Given the description of an element on the screen output the (x, y) to click on. 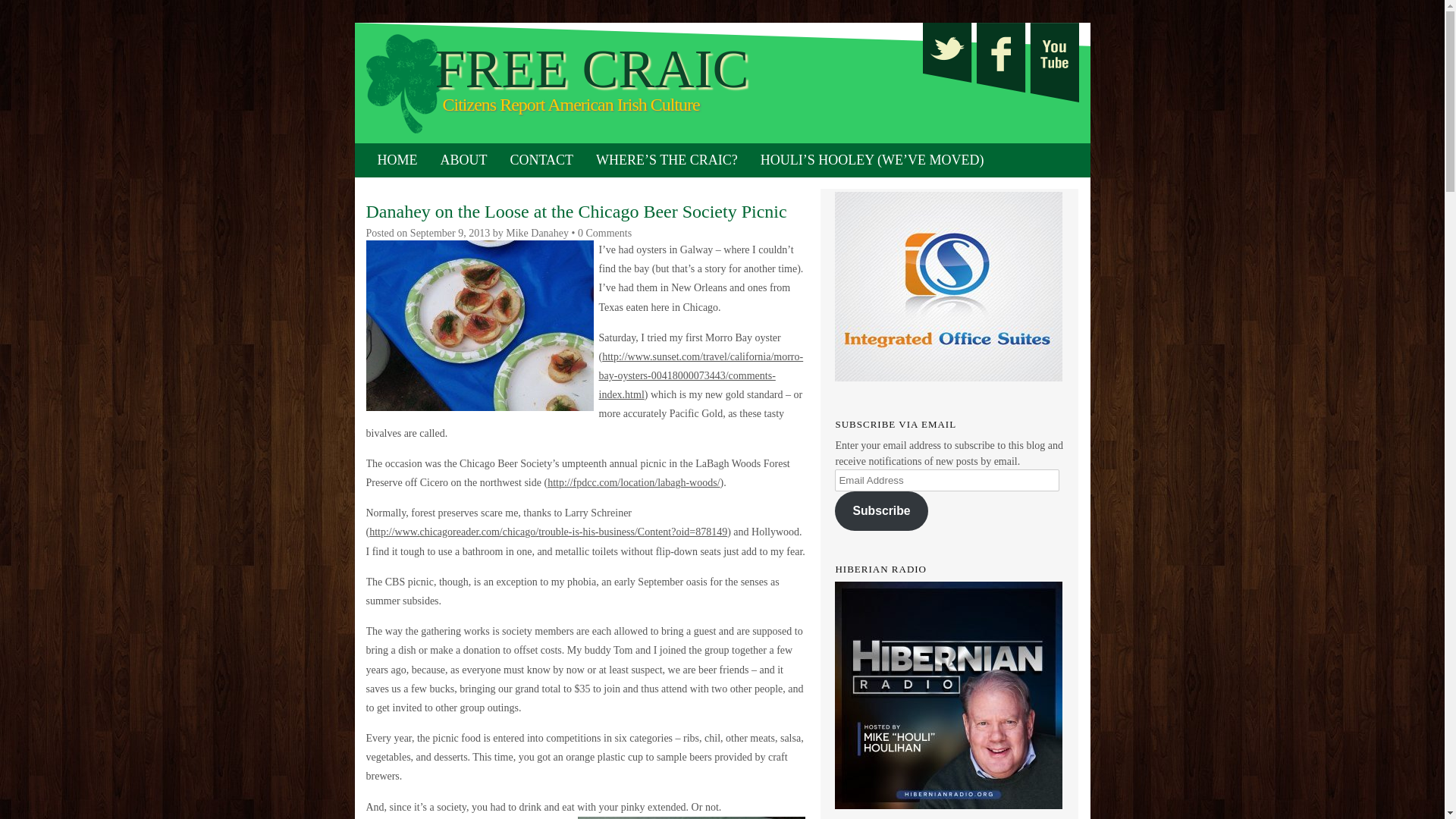
FREE CRAIC (630, 68)
HOME (396, 160)
Mike Danahey (537, 233)
CONTACT (542, 160)
0 Comments (604, 233)
ABOUT (464, 160)
View all posts by Mike Danahey (537, 233)
